Given the description of an element on the screen output the (x, y) to click on. 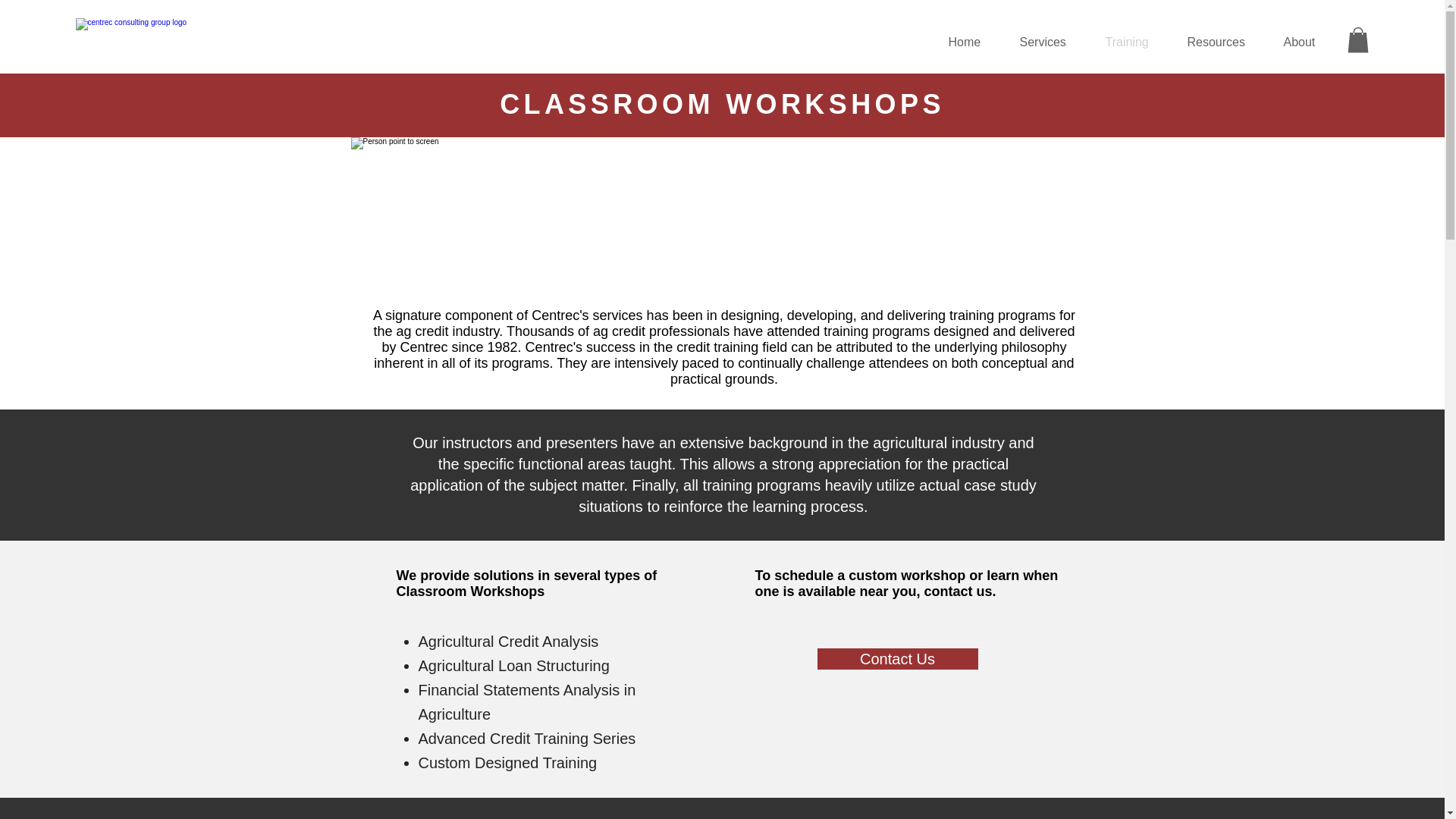
Training (1133, 42)
Financial Statements Analysis in Agriculture (527, 701)
About (1307, 42)
Home (973, 42)
Contact Us (897, 658)
Advanced Credit Training Series (527, 738)
Agricultural Loan Structuring (514, 665)
Agricultural Credit Analysis (508, 641)
Resources (1222, 42)
Custom Designed Training (507, 762)
